Given the description of an element on the screen output the (x, y) to click on. 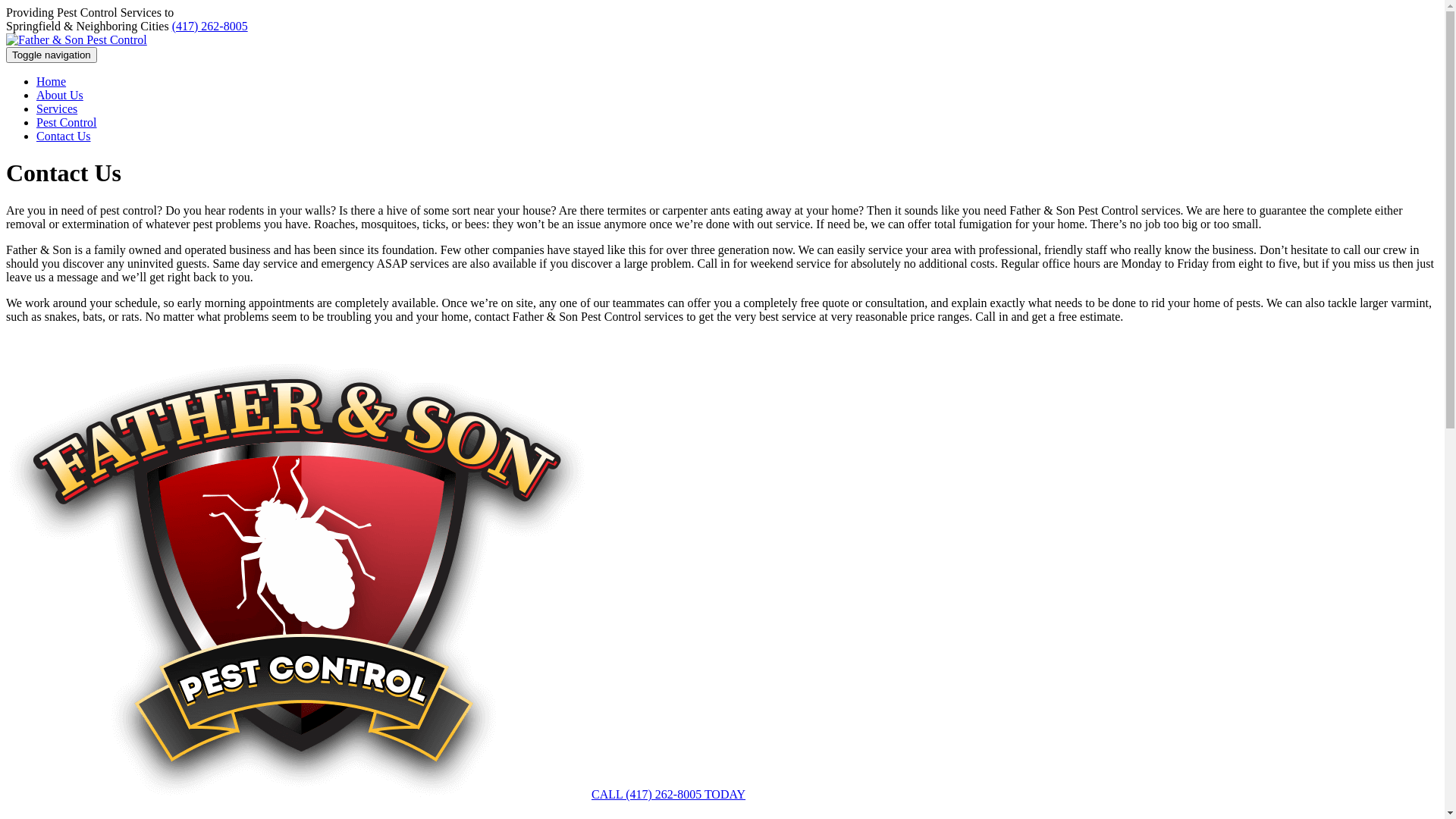
About Us Element type: text (59, 94)
Home Element type: text (50, 81)
Contact Us Element type: text (63, 135)
Father & Son Pest Control Element type: hover (76, 39)
Services Element type: text (56, 108)
Toggle navigation Element type: text (51, 54)
(417) 262-8005 Element type: text (209, 25)
CALL (417) 262-8005 TODAY Element type: text (668, 793)
Pest Control Element type: text (66, 122)
